Given the description of an element on the screen output the (x, y) to click on. 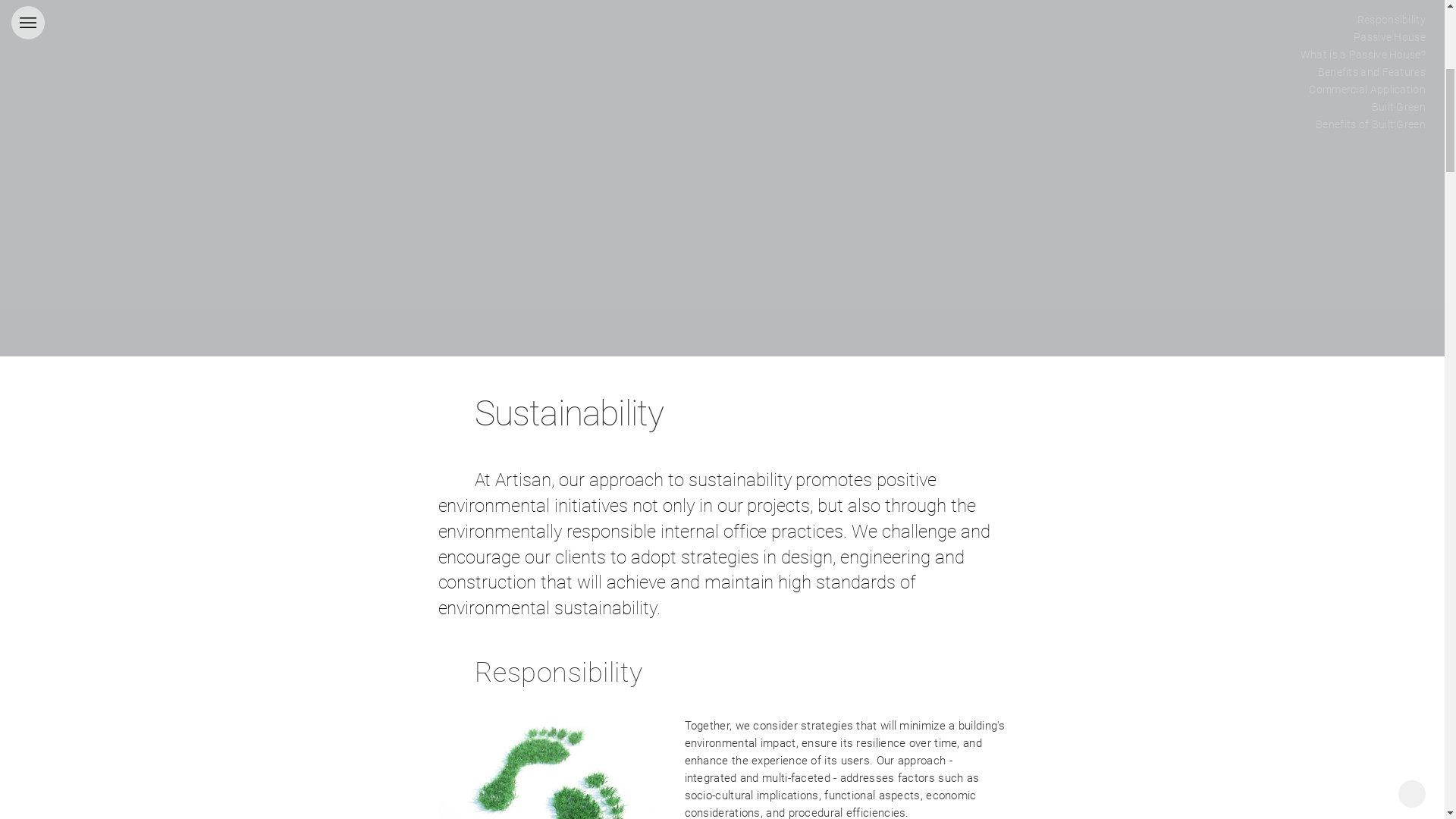
Benefits of Built Green Element type: text (1370, 586)
What is a Passive House? Element type: text (1362, 517)
Passive House Element type: text (1389, 499)
Commercial Application Element type: text (1366, 552)
Responsibility Element type: text (1391, 482)
Benefits and Features Element type: text (1371, 534)
Built Green Element type: text (1398, 569)
